Given the description of an element on the screen output the (x, y) to click on. 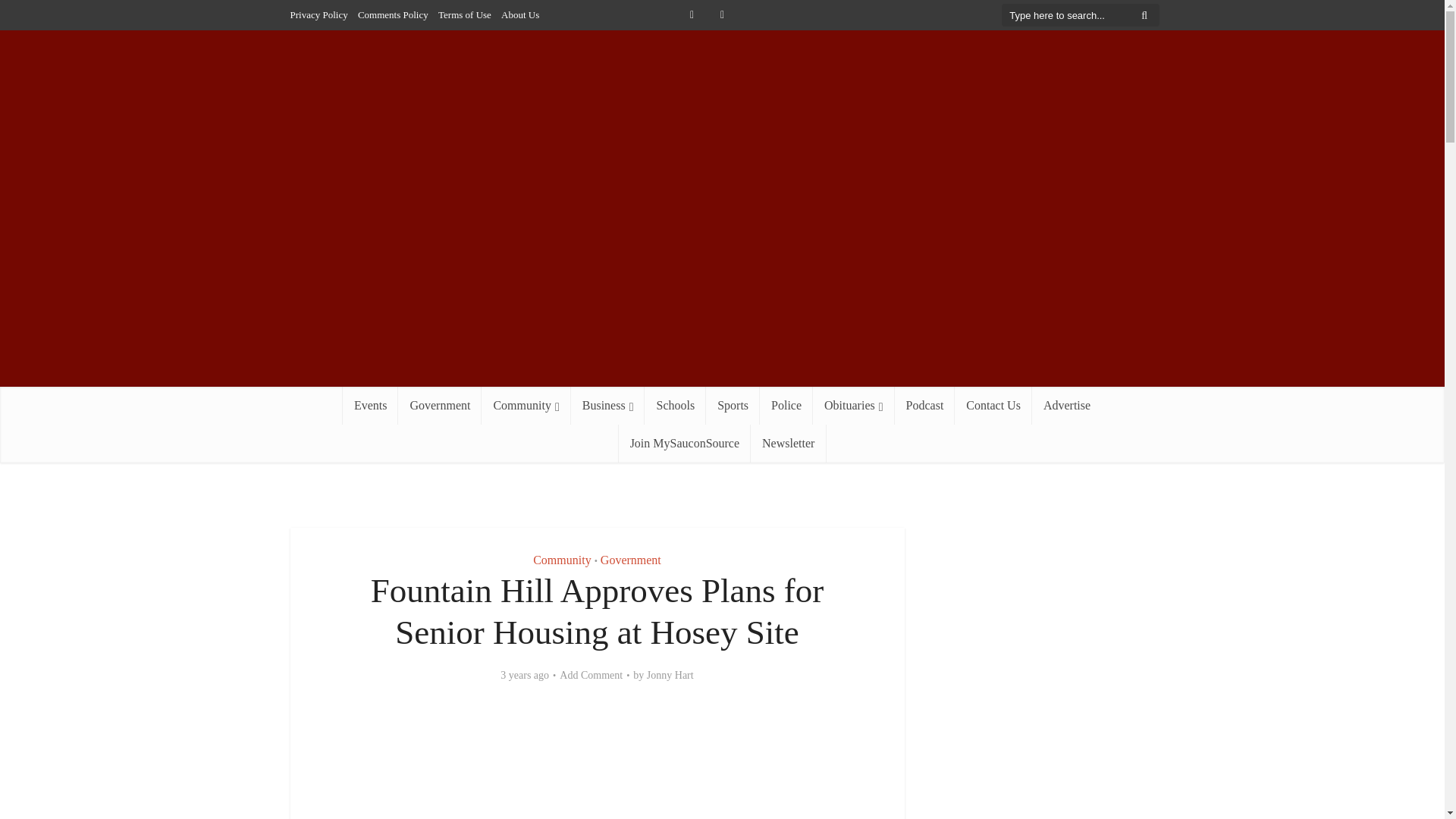
Type here to search... (1079, 15)
Schools (675, 405)
Add Comment (591, 675)
About Us (519, 14)
Sports (733, 405)
Business (607, 405)
Advertise (1067, 405)
Jonny Hart (670, 675)
Community (561, 559)
Newsletter (788, 443)
